Given the description of an element on the screen output the (x, y) to click on. 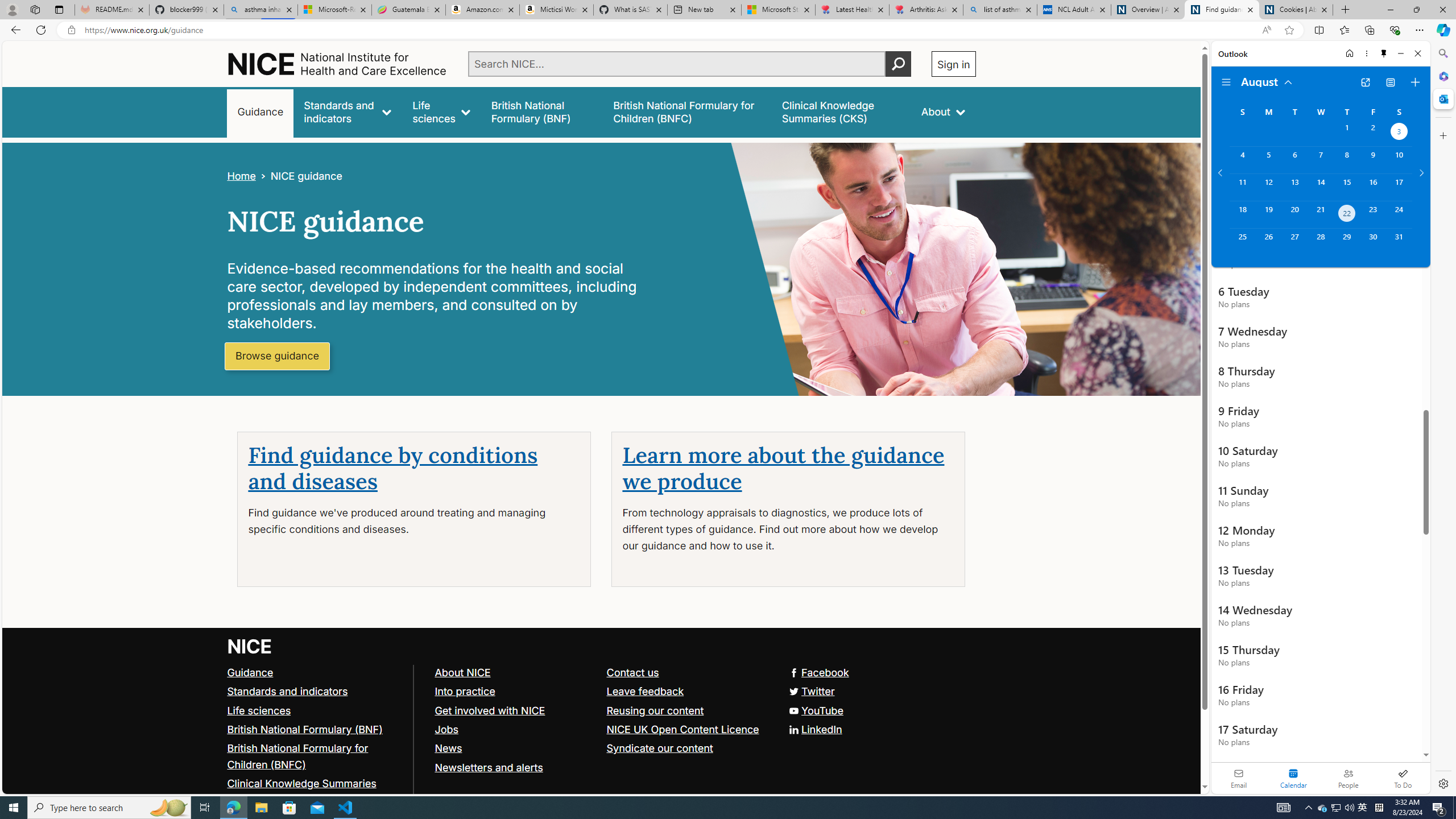
asthma inhaler - Search (260, 9)
Friday, August 16, 2024.  (1372, 186)
Thursday, August 22, 2024. Today.  (1346, 214)
People (1347, 777)
Thursday, August 8, 2024.  (1346, 159)
Sunday, August 11, 2024.  (1242, 186)
Monday, August 5, 2024.  (1268, 159)
